Given the description of an element on the screen output the (x, y) to click on. 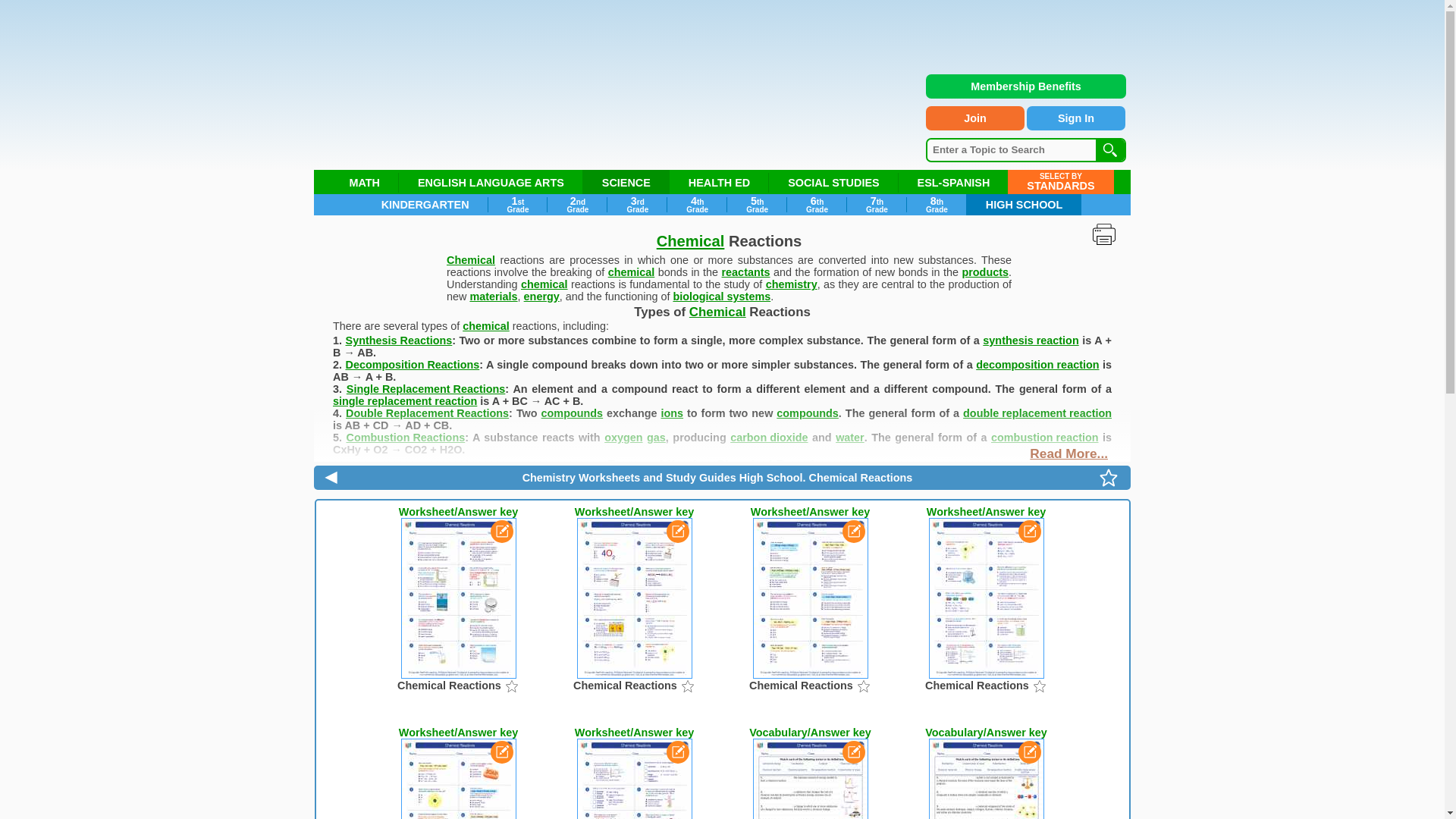
My Collections (1108, 477)
decomposition reaction (1037, 364)
Download Chemical Reactions Chemistry Worksheet High School (457, 772)
Decomposition Reactions (413, 364)
Add to My Collections... (687, 685)
This Worksheet can be completed online without printing. (696, 204)
products (756, 204)
This Worksheet can be completed online without printing. (1029, 531)
